Given the description of an element on the screen output the (x, y) to click on. 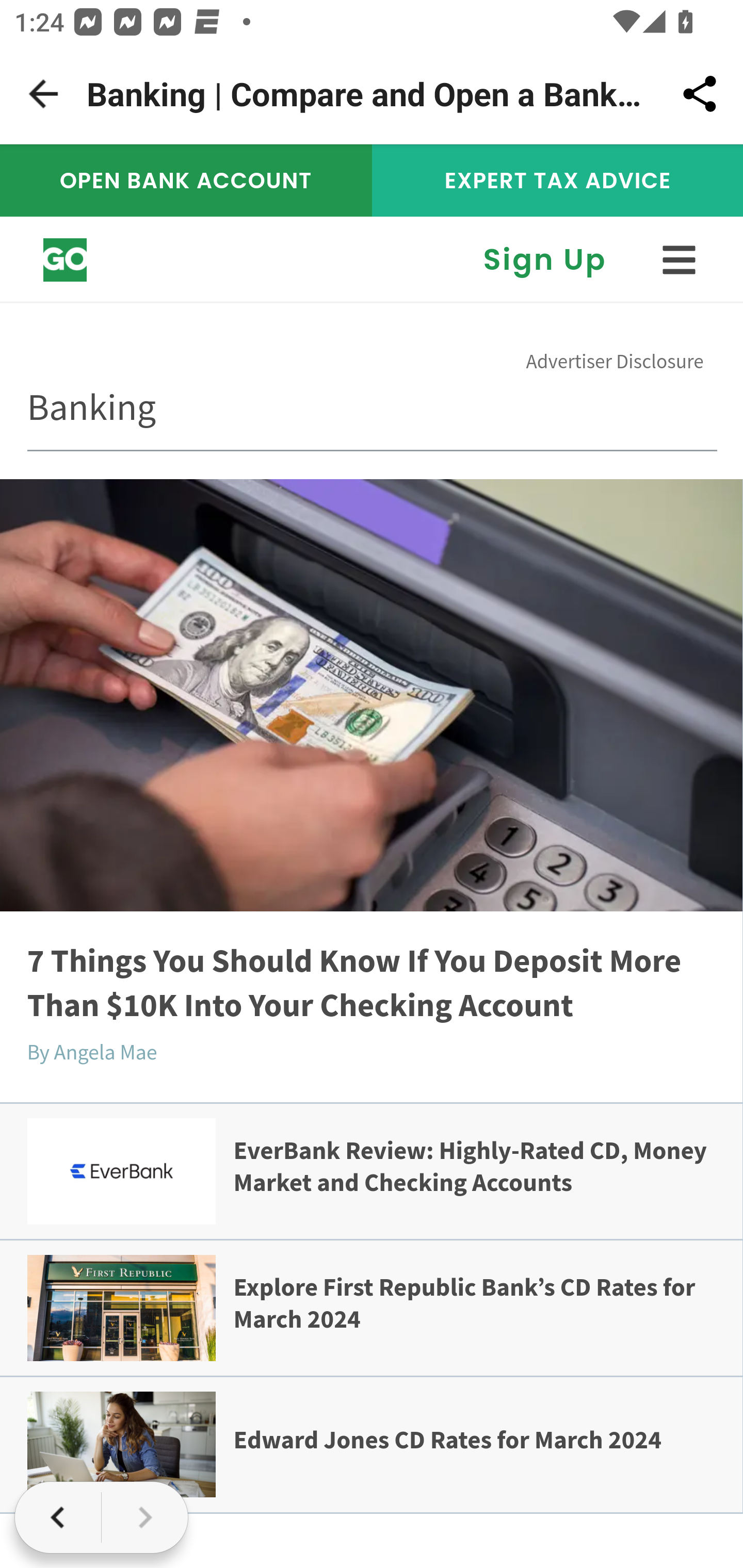
OPEN BANK ACCOUNT (186, 180)
EXPERT TAX ADVICE (557, 180)
Sign Up (544, 259)
www.gobankingrates (65, 260)
Advertiser Disclosure (614, 360)
By Angela Mae (92, 1052)
Edward Jones CD Rates for March 2024 (120, 1444)
Edward Jones CD Rates for March 2024 (447, 1439)
